Given the description of an element on the screen output the (x, y) to click on. 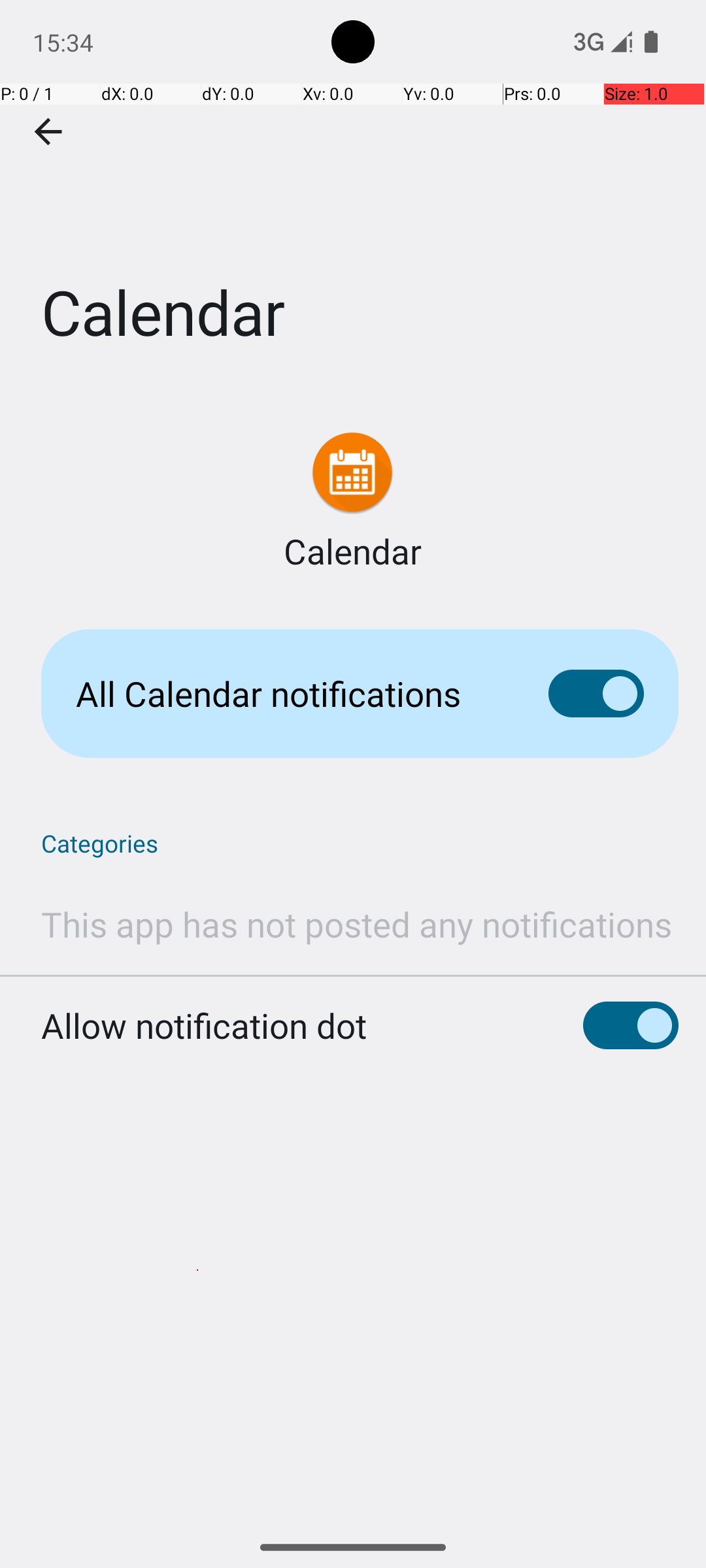
All Calendar notifications Element type: android.widget.TextView (291, 693)
This app has not posted any notifications Element type: android.widget.TextView (356, 923)
Allow notification dot Element type: android.widget.TextView (203, 1025)
